Given the description of an element on the screen output the (x, y) to click on. 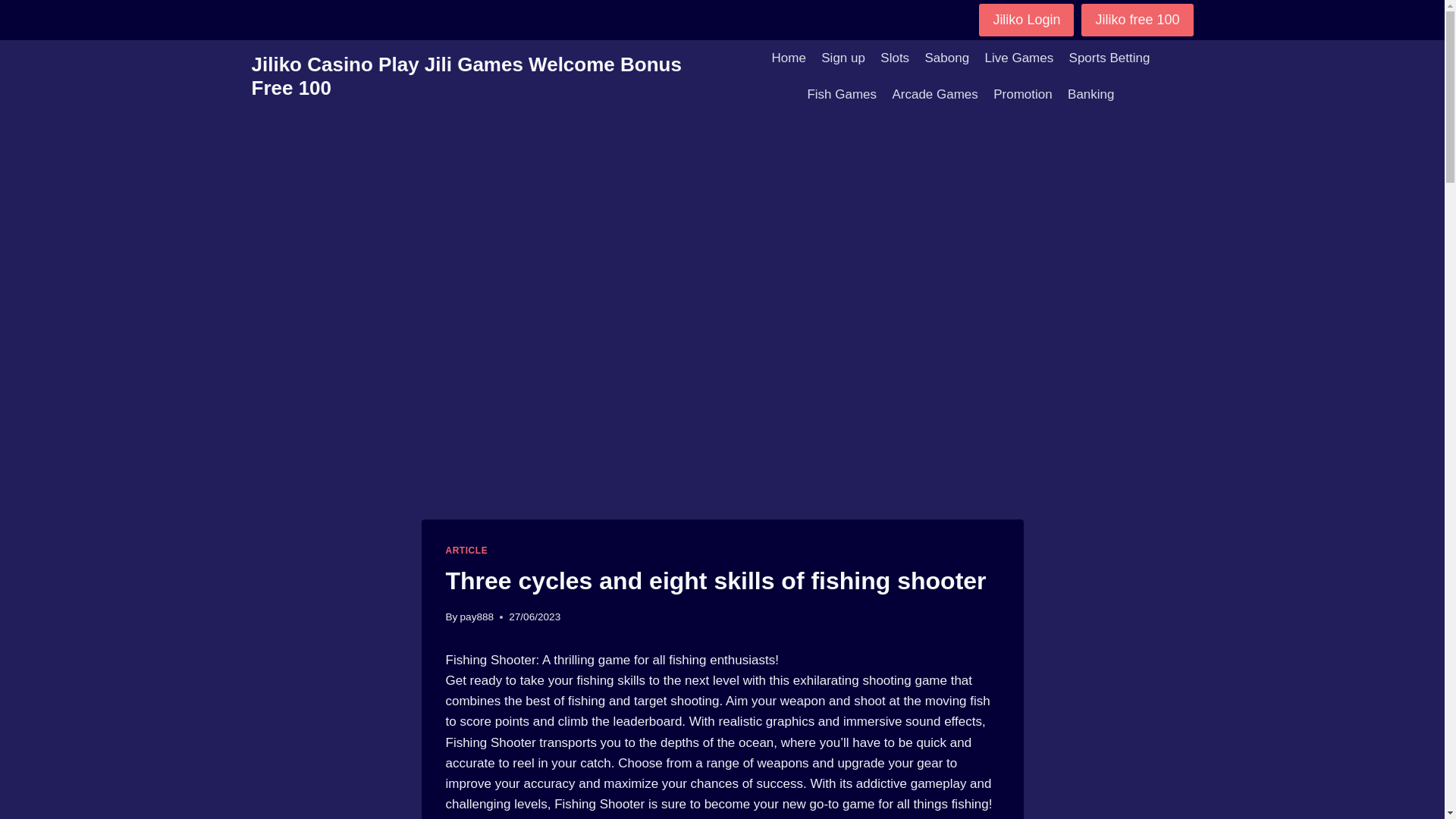
Jiliko Login (1026, 20)
Banking (1090, 94)
ARTICLE (466, 550)
Fish Games (841, 94)
pay888 (477, 616)
Sign up (842, 58)
Sabong (946, 58)
Jiliko free 100 (1136, 20)
Slots (894, 58)
Home (787, 58)
Promotion (1022, 94)
Arcade Games (934, 94)
Live Games (1018, 58)
Jiliko Casino Play Jili Games Welcome Bonus Free 100 (490, 76)
Sports Betting (1109, 58)
